Given the description of an element on the screen output the (x, y) to click on. 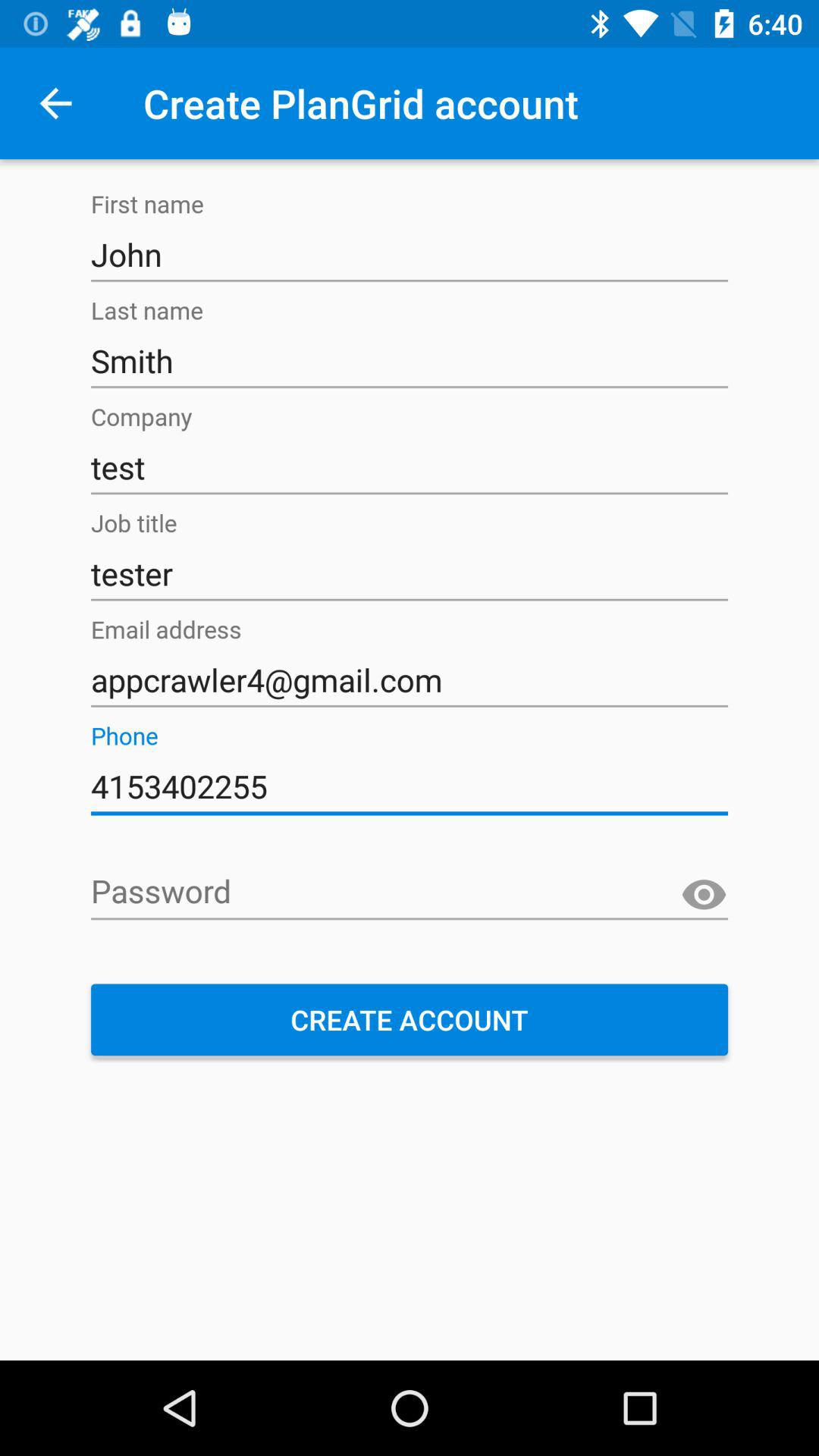
launch the smith (409, 361)
